Given the description of an element on the screen output the (x, y) to click on. 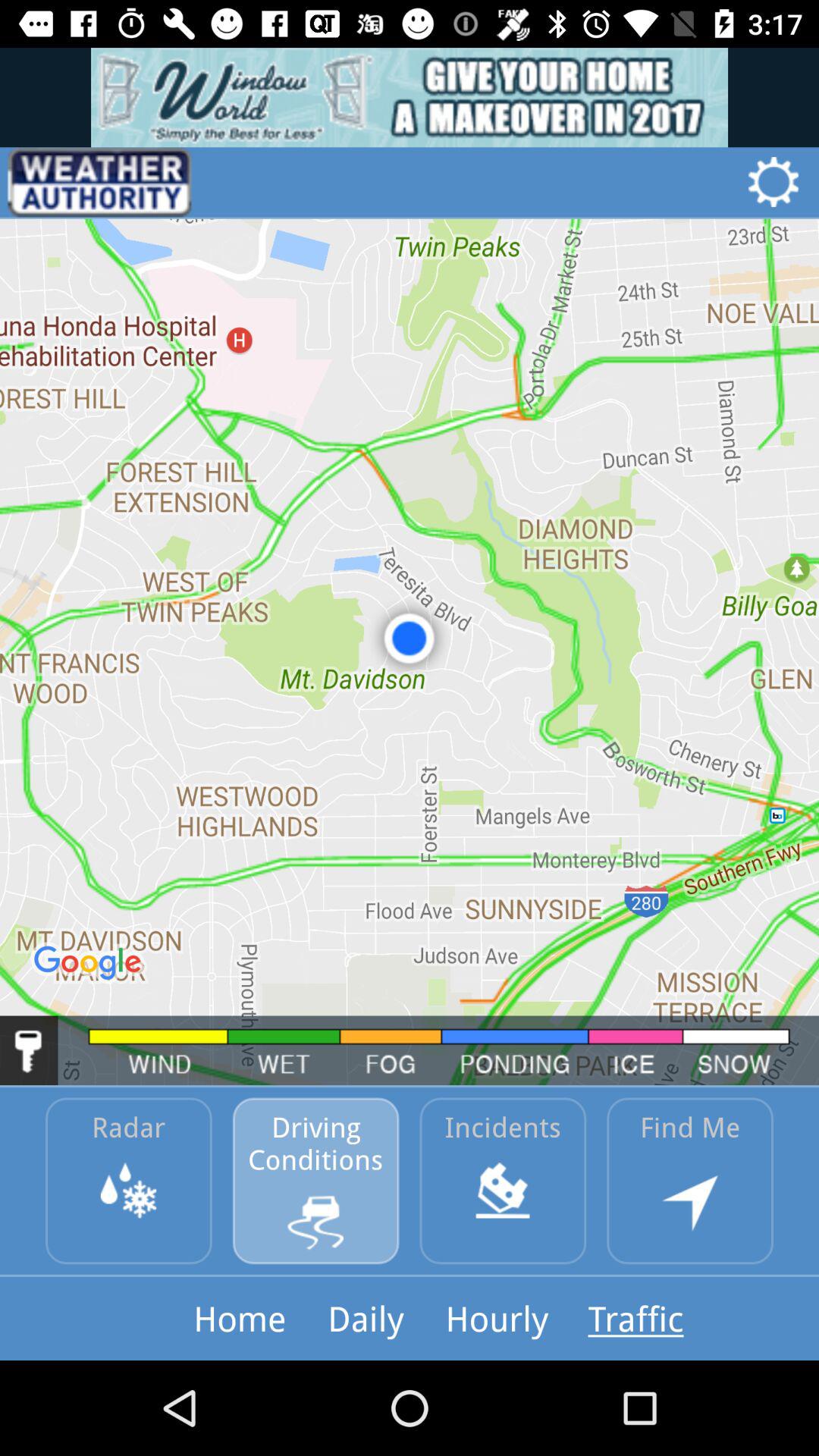
open icon at the top left corner (99, 182)
